Given the description of an element on the screen output the (x, y) to click on. 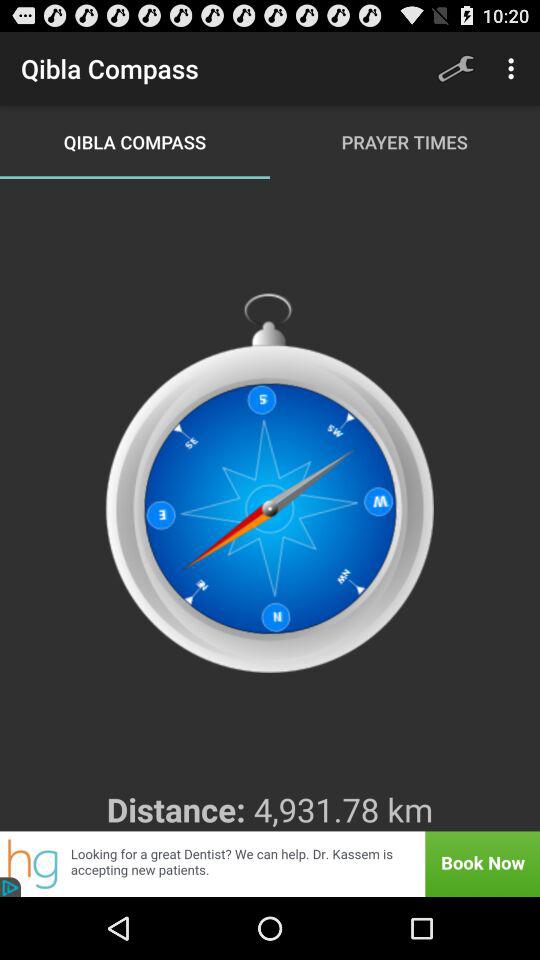
view advertising (270, 864)
